Given the description of an element on the screen output the (x, y) to click on. 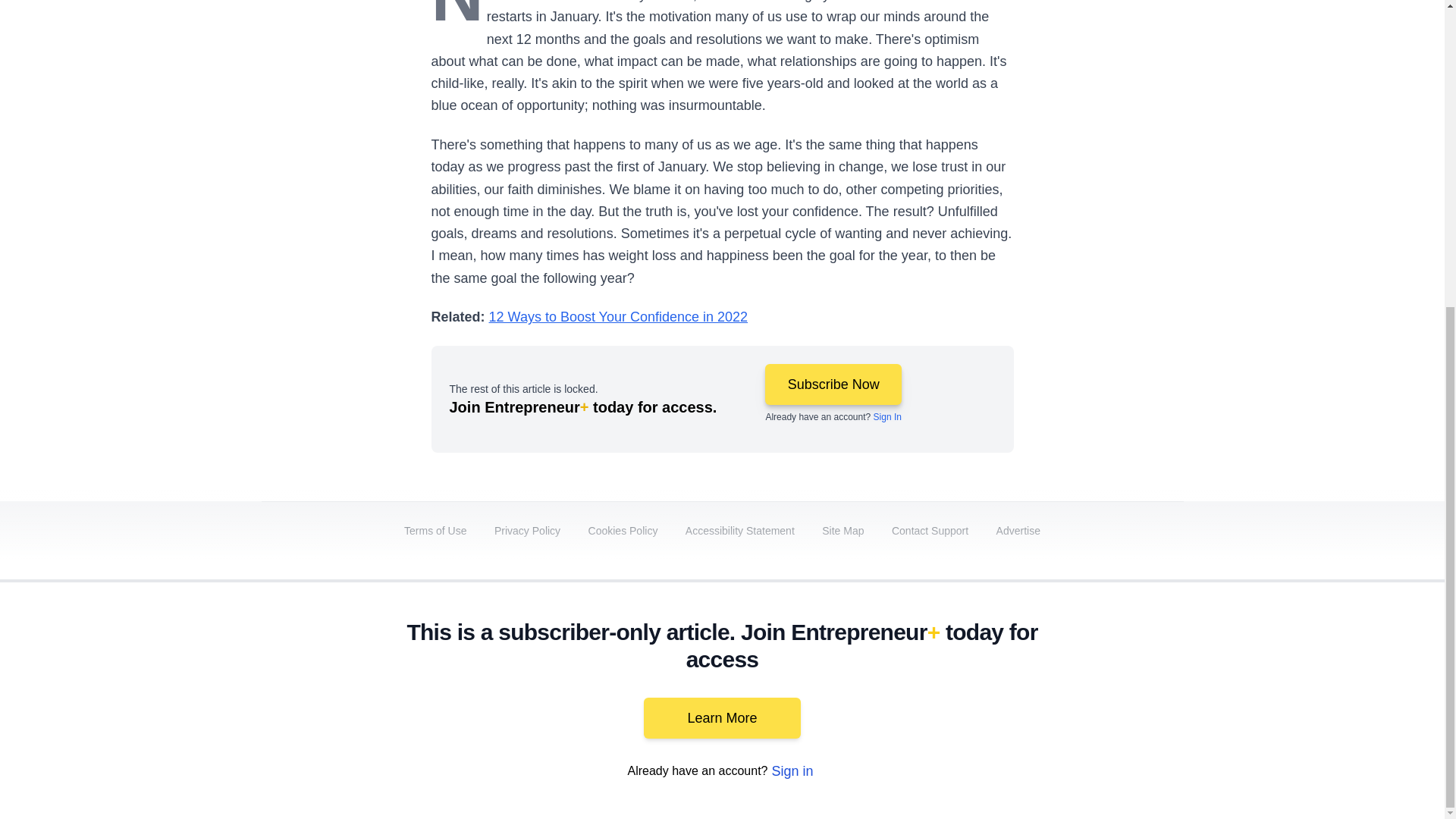
tiktok (1079, 691)
twitter (909, 691)
rss (1164, 691)
youtube (994, 691)
linkedin (952, 691)
snapchat (1121, 691)
facebook (866, 691)
instagram (1037, 691)
